Given the description of an element on the screen output the (x, y) to click on. 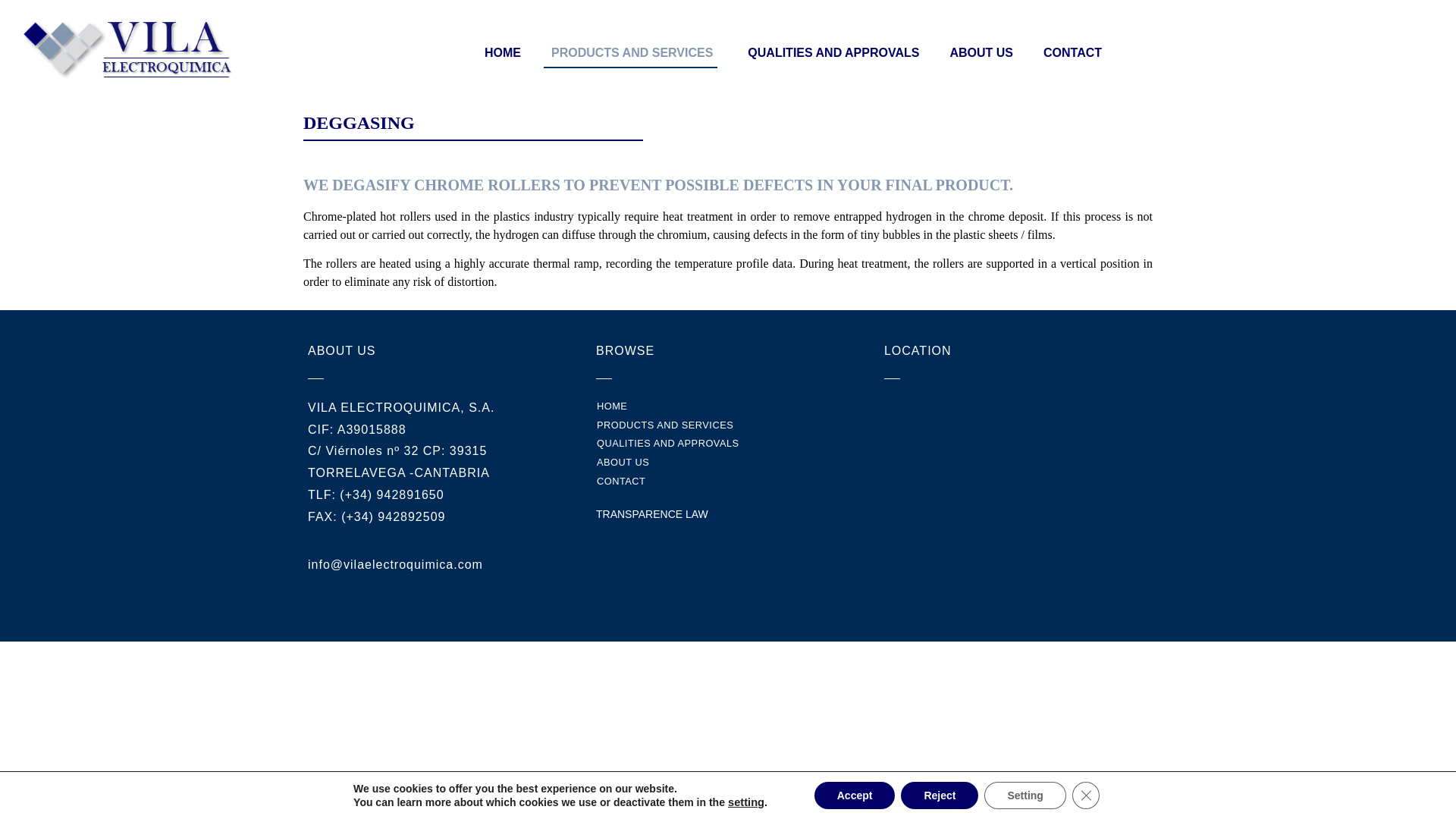
HOME (499, 52)
CONTACT (1068, 52)
ABOUT US (977, 52)
Vila Eletroquimica (1015, 483)
PRODUCTS AND SERVICES (630, 52)
QUALITIES AND APPROVALS (828, 52)
